Given the description of an element on the screen output the (x, y) to click on. 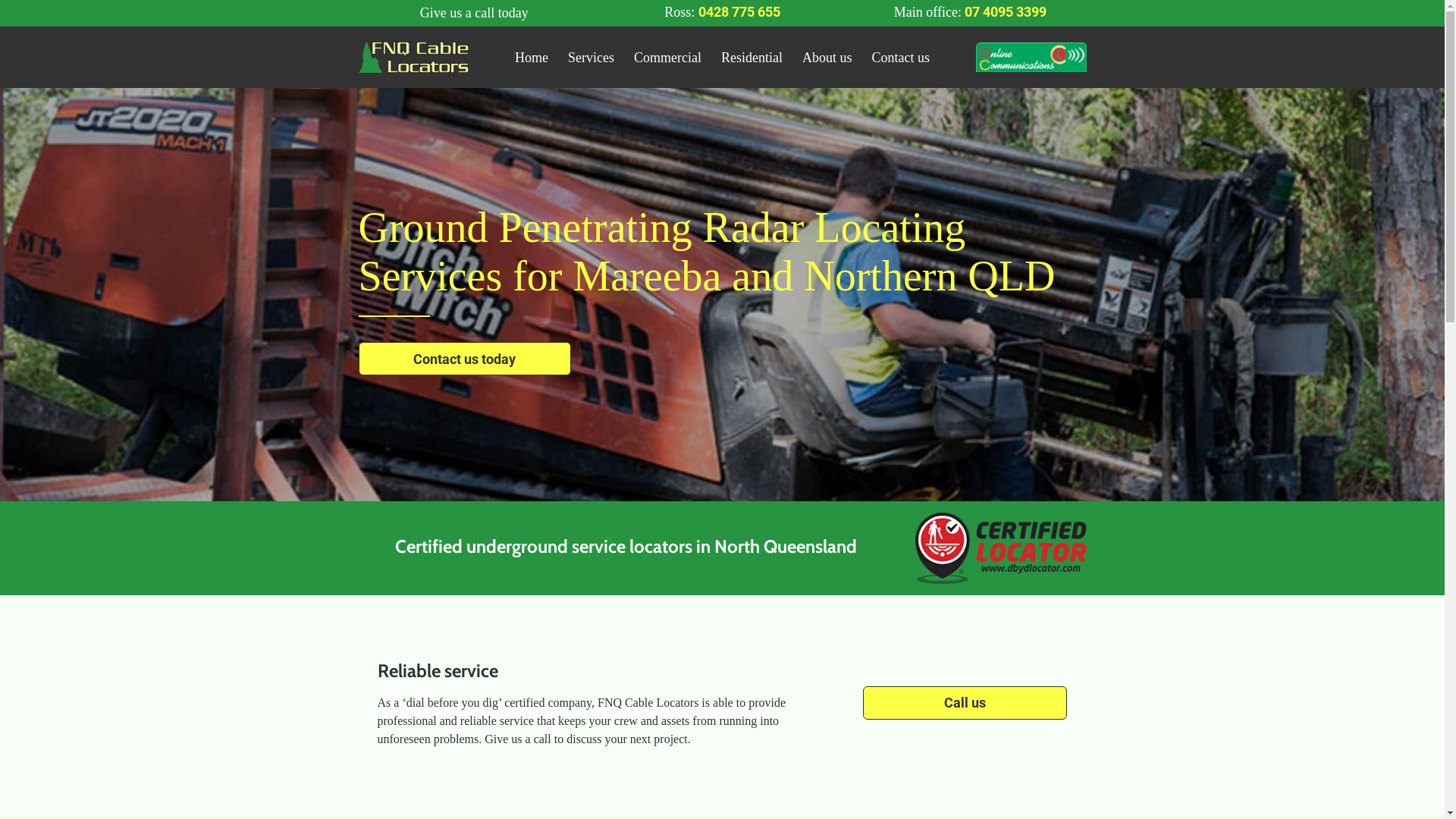
Dial Before You Dig Element type: hover (1000, 547)
Residential Element type: text (751, 57)
Home Element type: text (531, 57)
Call us Element type: text (964, 702)
Contact us Element type: text (900, 57)
FNQ Cable Locators Logo Element type: hover (412, 56)
Services Element type: text (590, 57)
07 4095 3399 Element type: text (1005, 11)
0428 775 655 Element type: text (739, 11)
Commercial Element type: text (667, 57)
About us Element type: text (827, 57)
Contact us today Element type: text (463, 358)
